Given the description of an element on the screen output the (x, y) to click on. 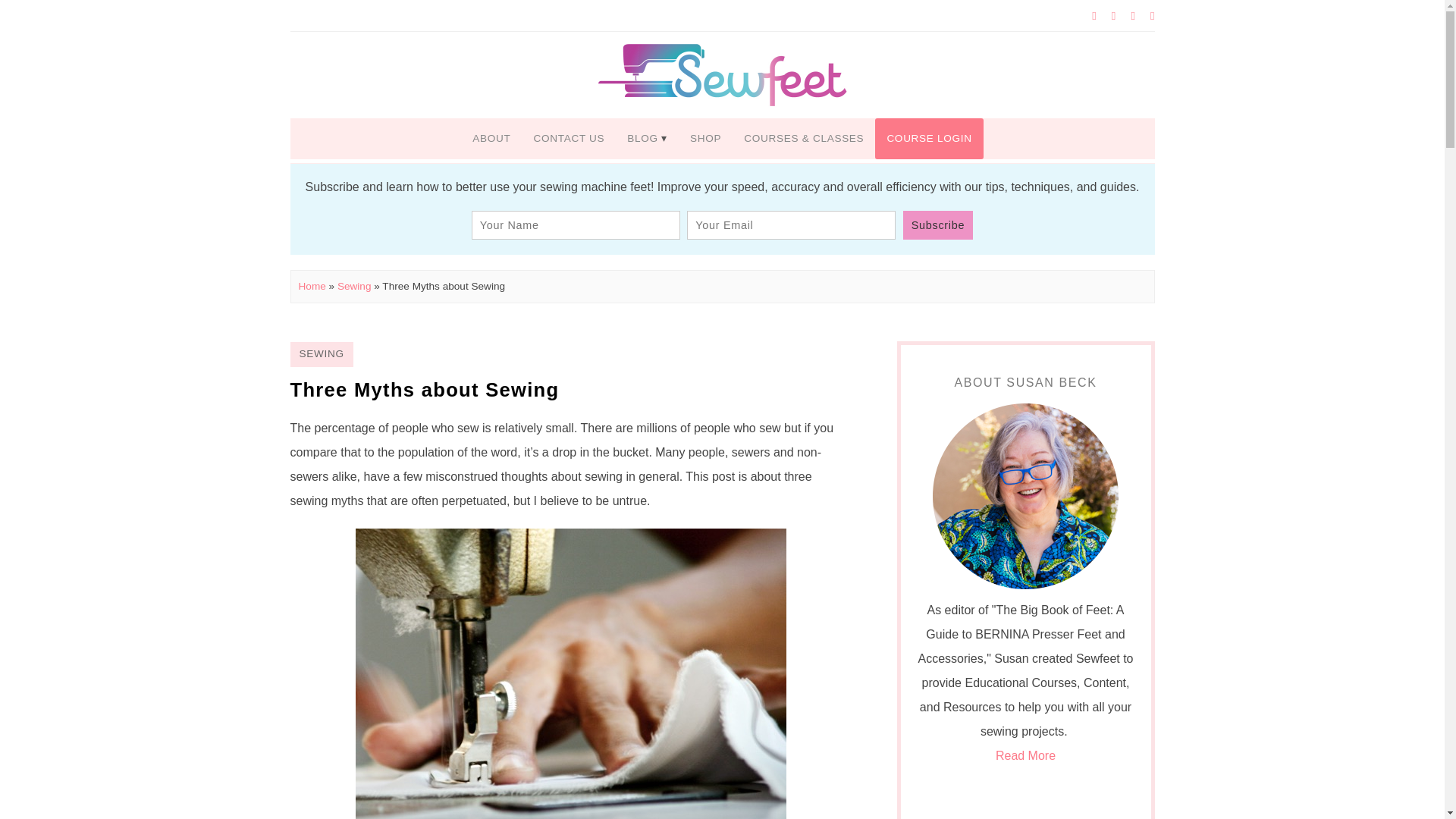
Subscribe (937, 224)
ABOUT (491, 137)
Home (312, 285)
Sewing (354, 285)
Subscribe (937, 224)
SEWING (320, 353)
Three Myths about Sewing (424, 389)
Sewfeet (721, 74)
SHOP (705, 137)
COURSE LOGIN (928, 137)
Three Myths about Sewing (424, 389)
presser foot (570, 673)
BLOG (646, 137)
CONTACT US (568, 137)
